Given the description of an element on the screen output the (x, y) to click on. 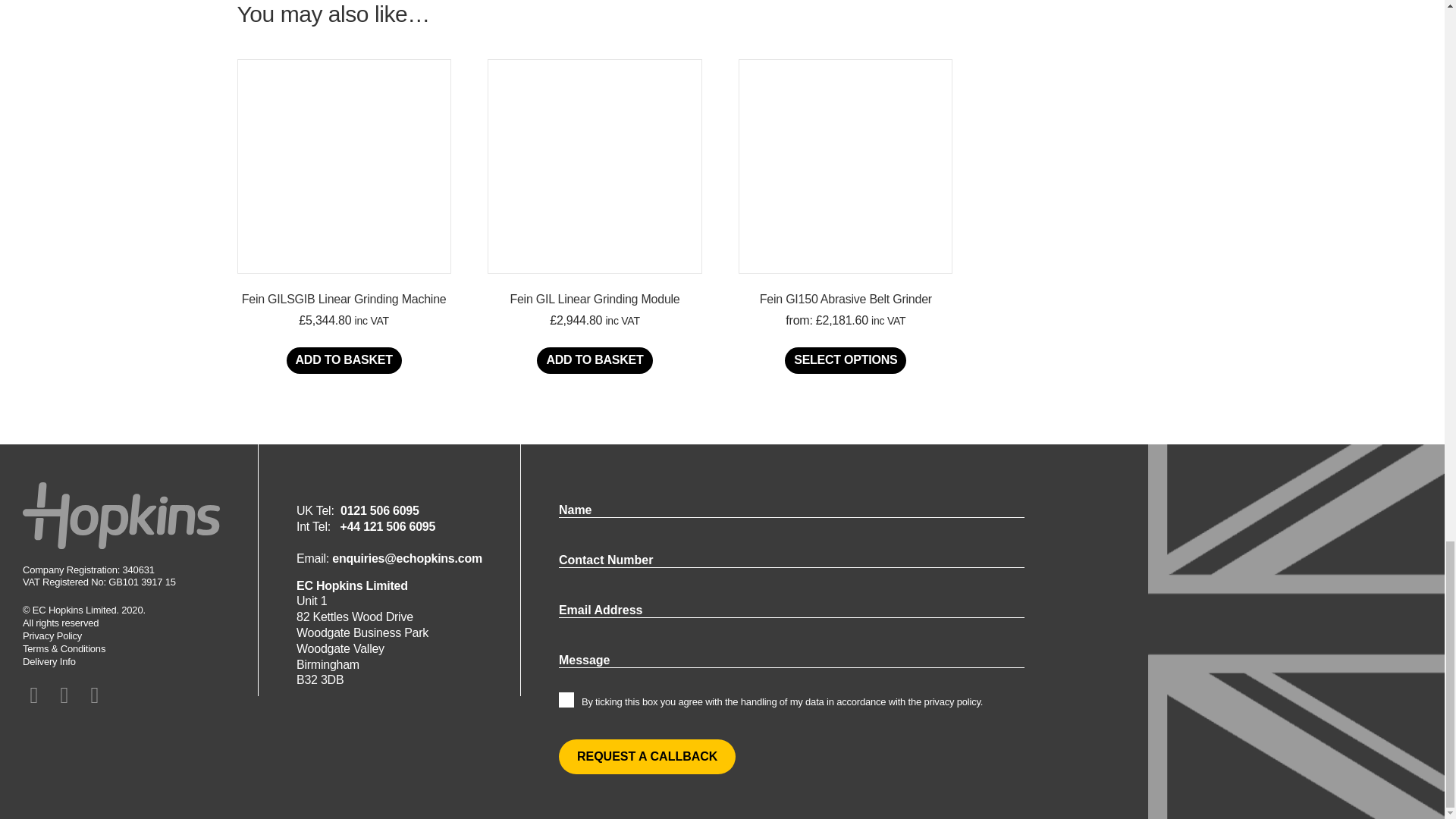
REQUEST A CALLBACK (647, 756)
